Given the description of an element on the screen output the (x, y) to click on. 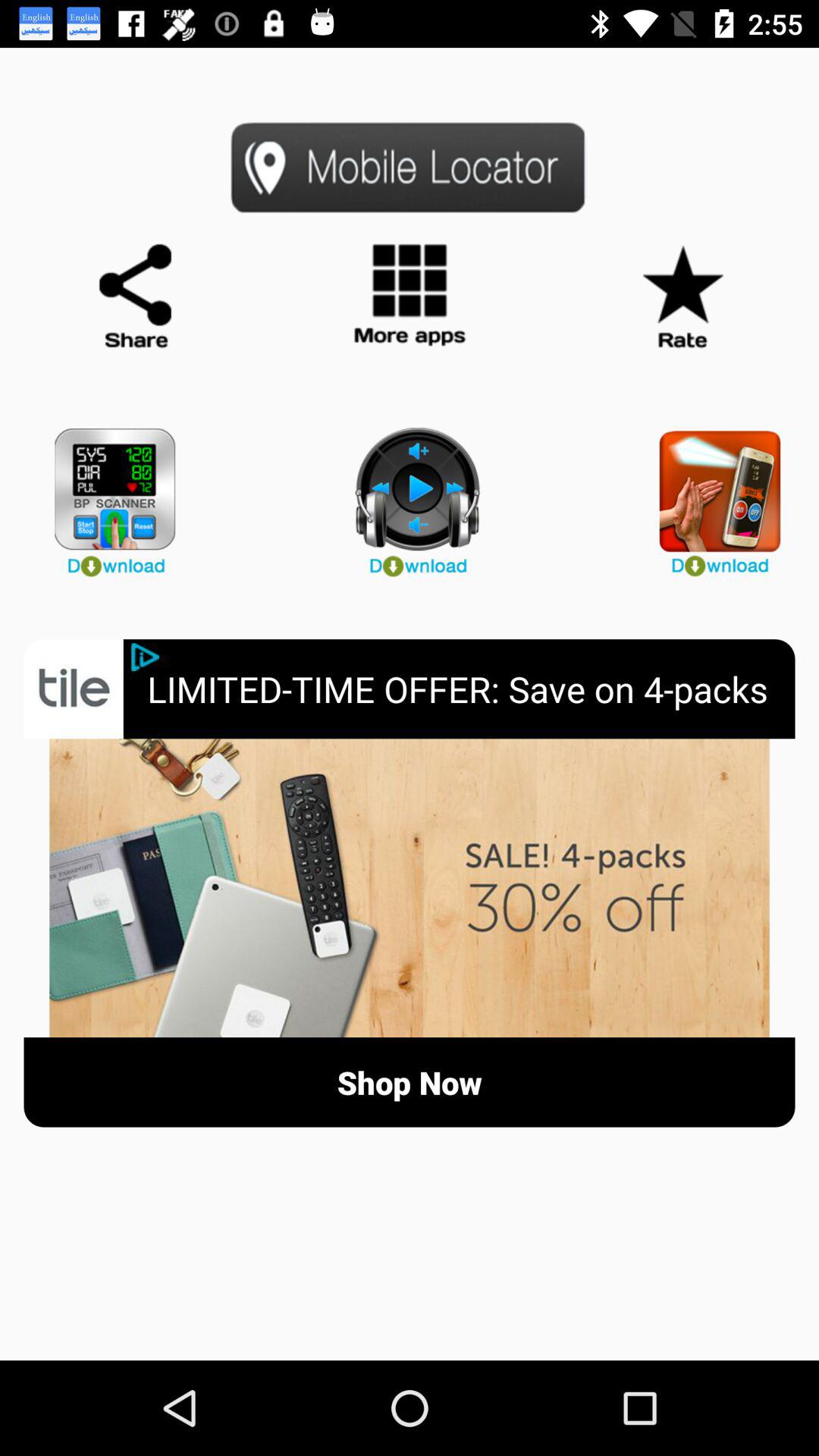
rate the application (682, 296)
